Given the description of an element on the screen output the (x, y) to click on. 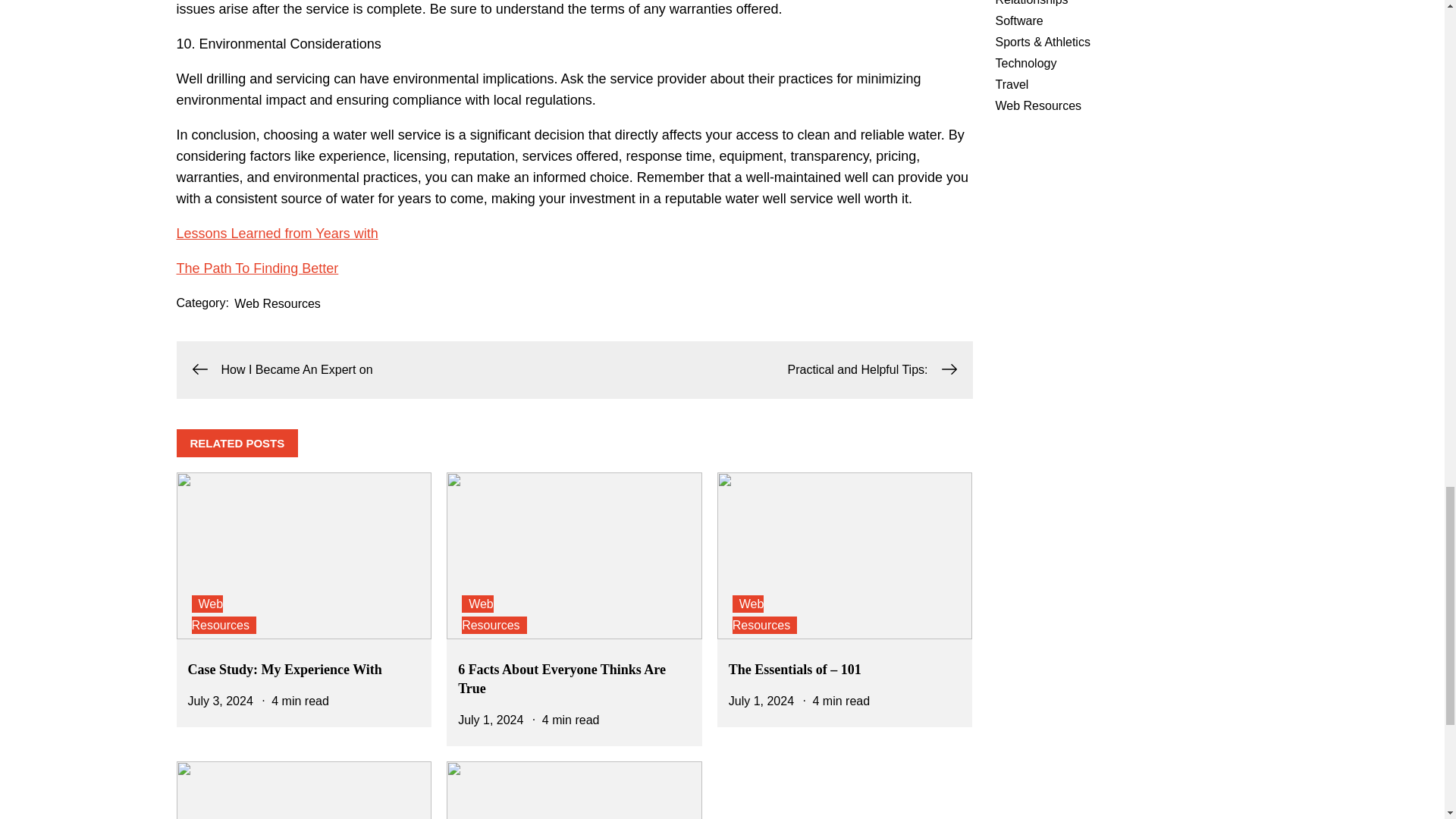
Web Resources (223, 614)
Web Resources (493, 614)
July 1, 2024 (490, 719)
Lessons Learned from Years with (276, 233)
Case Study: My Experience With (284, 669)
Web Resources (764, 614)
6 Facts About Everyone Thinks Are True (561, 678)
The Path To Finding Better (256, 268)
July 1, 2024 (761, 700)
Web Resources (277, 303)
